Given the description of an element on the screen output the (x, y) to click on. 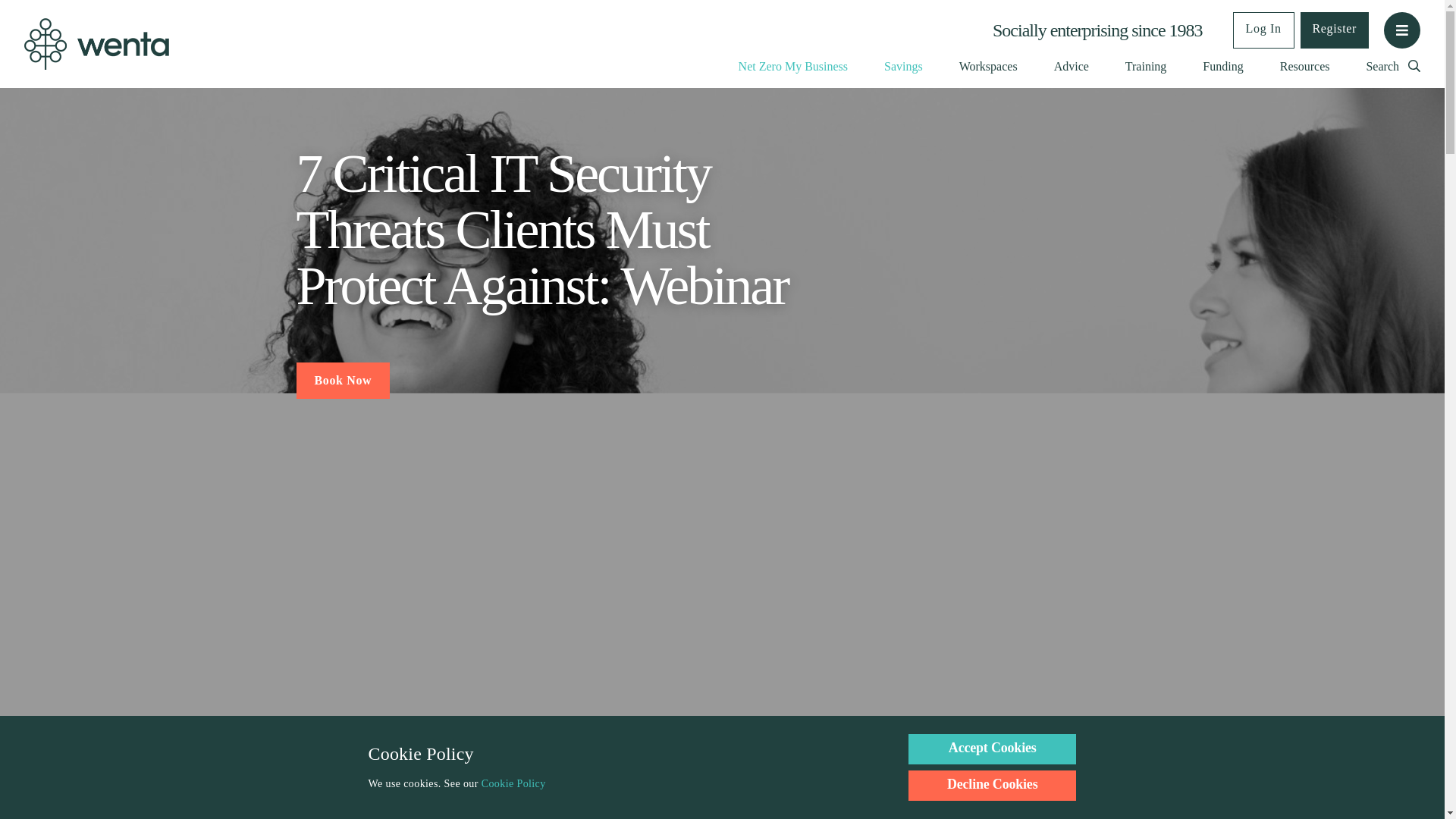
Book Now (342, 380)
Cookie Policy (513, 783)
Search (1393, 65)
Workspaces (988, 65)
Net Zero My Business (792, 65)
Funding (1222, 65)
Training (1146, 65)
Log In (1263, 30)
Savings (903, 65)
Resources (1304, 65)
